Given the description of an element on the screen output the (x, y) to click on. 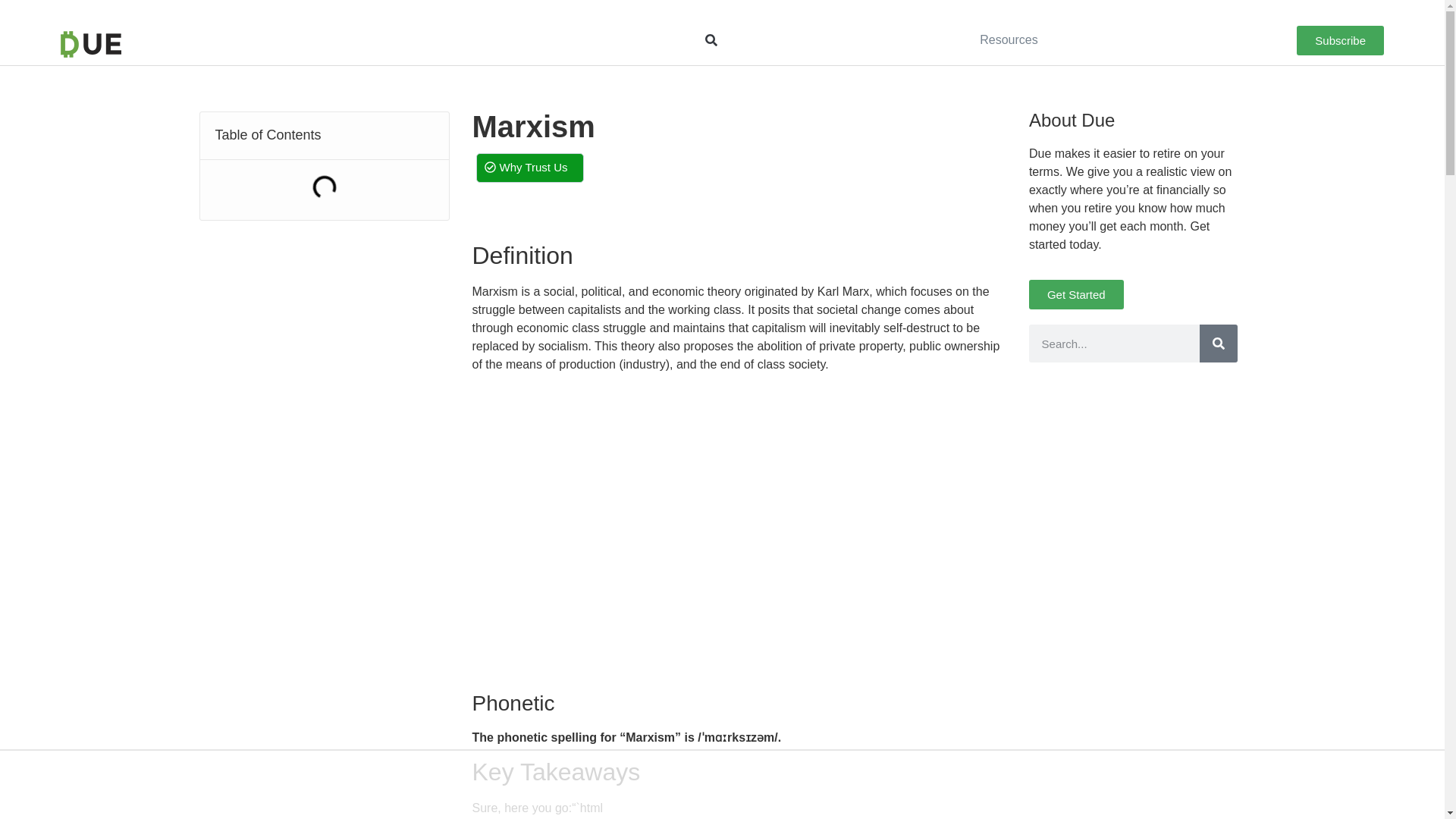
Get Started (1076, 294)
Why Trust Us (529, 167)
Resources (1007, 39)
Subscribe (1340, 40)
